Given the description of an element on the screen output the (x, y) to click on. 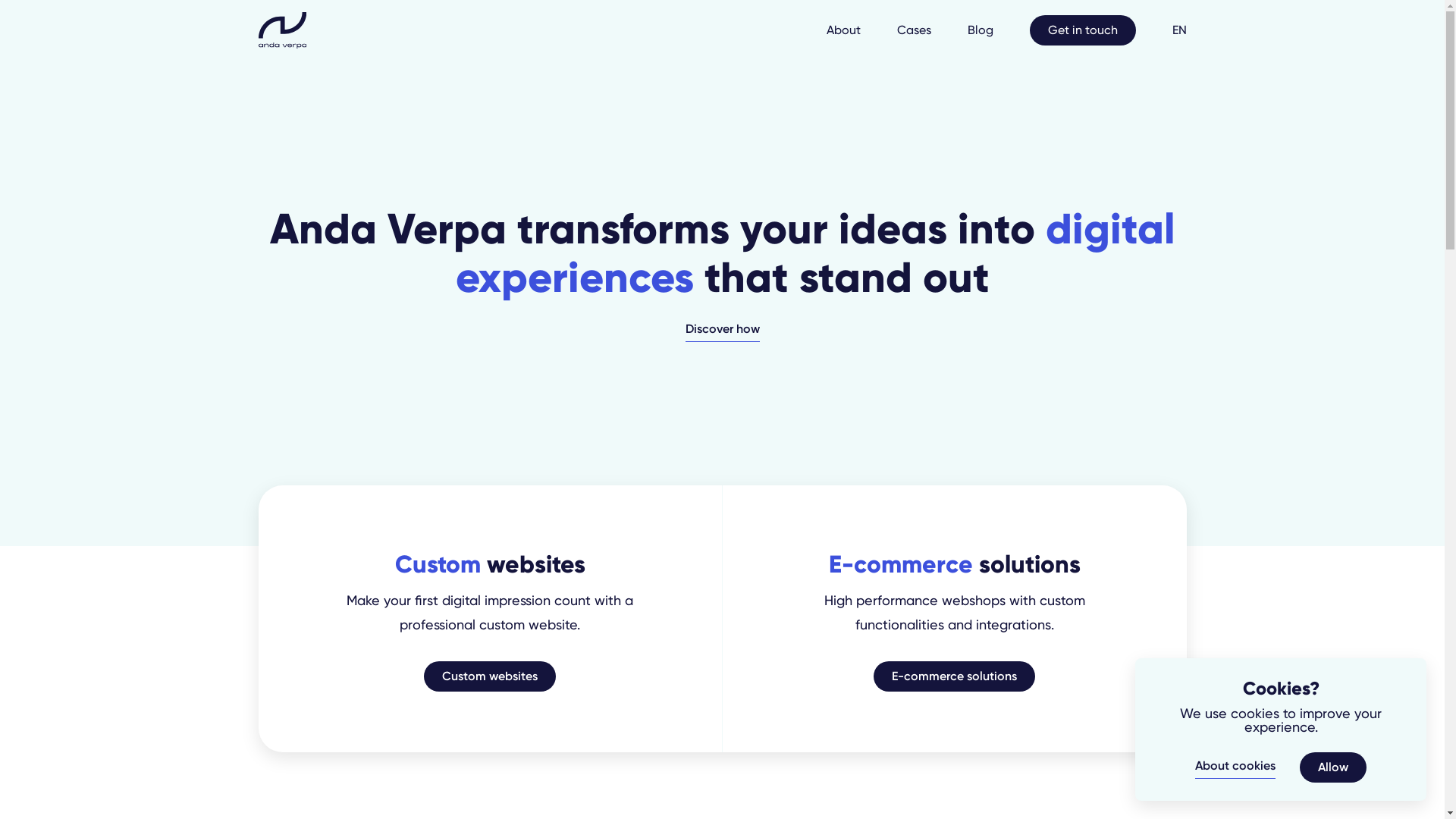
Discover how Element type: text (722, 331)
E-commerce solutions Element type: text (954, 676)
Cases Element type: text (913, 30)
About Element type: text (843, 30)
Home Element type: hover (281, 30)
Get in touch Element type: text (1082, 30)
About cookies Element type: text (1235, 767)
Custom websites Element type: text (489, 676)
Allow Element type: text (1332, 767)
Blog Element type: text (980, 30)
